Given the description of an element on the screen output the (x, y) to click on. 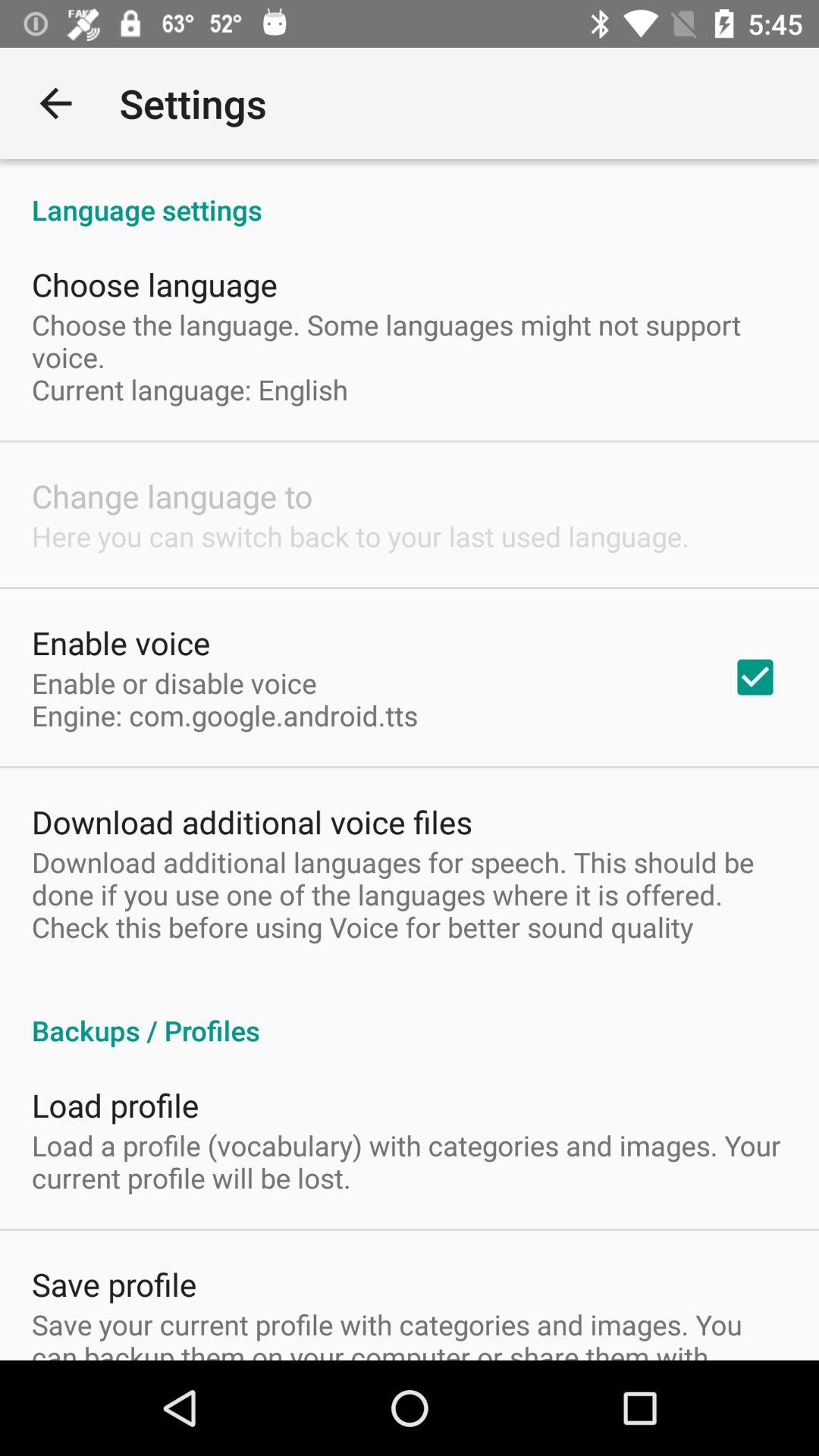
jump until the language settings app (409, 193)
